Given the description of an element on the screen output the (x, y) to click on. 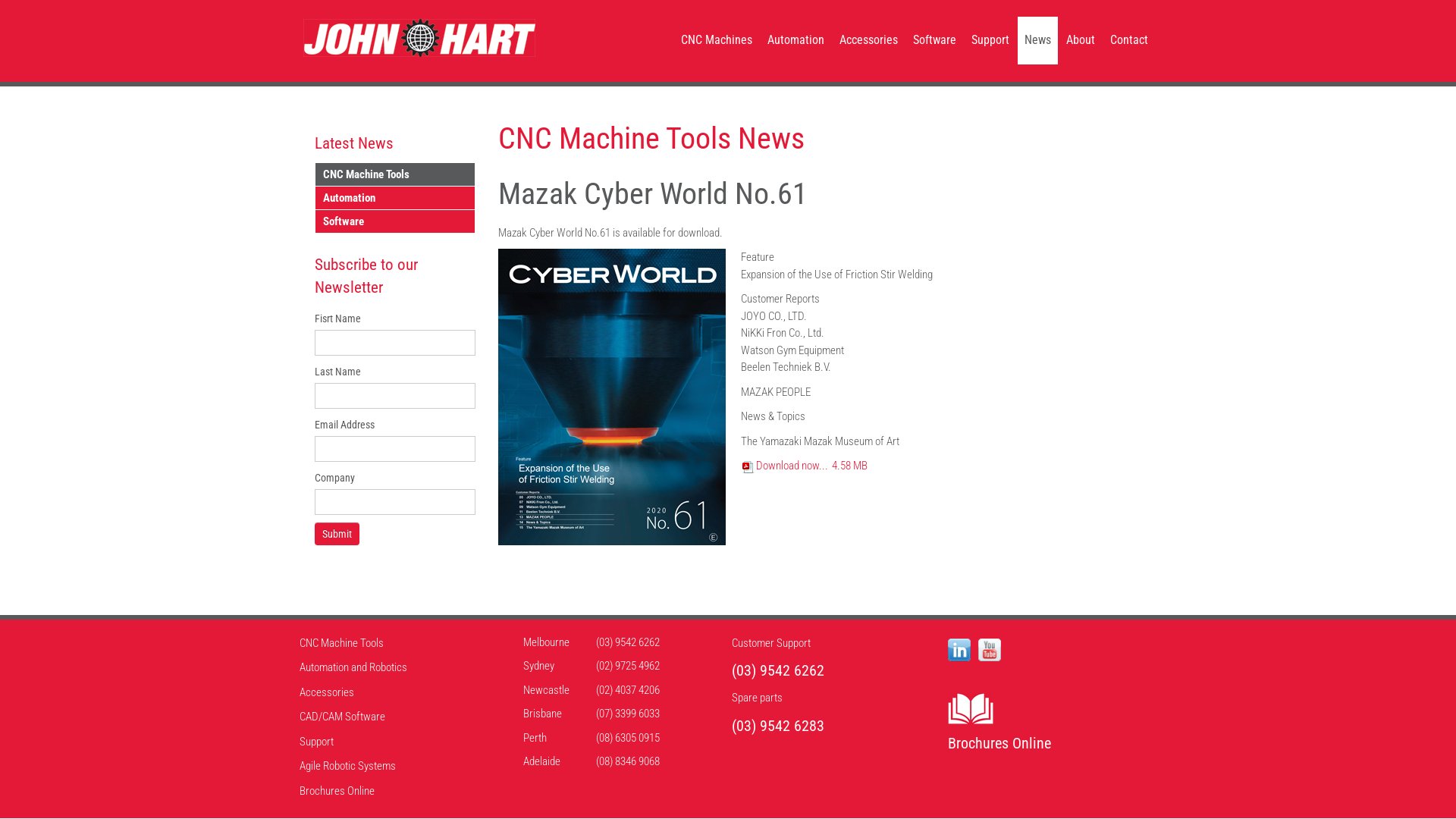
CNC Machines Element type: text (716, 40)
(03) 9542 6283 Element type: text (777, 725)
Automation Element type: text (394, 197)
Agile Robotic Systems Element type: text (347, 765)
About Element type: text (1080, 40)
(02) 9725 4962 Element type: text (627, 665)
Automation and Robotics Element type: text (353, 667)
Mazak Cyber World No.61 Element type: text (652, 193)
Brochures Online Element type: text (999, 743)
(08) 6305 0915 Element type: text (627, 737)
(02) 4037 4206 Element type: text (627, 689)
Automation Element type: text (795, 40)
CNC Machine Tools Element type: text (394, 174)
Home Element type: hover (419, 37)
(03) 9542 6262 Element type: text (627, 642)
Accessories Element type: text (326, 692)
Software Element type: text (394, 221)
(03) 9542 6262 Element type: text (777, 670)
Contact Element type: text (1128, 40)
Submit Element type: text (336, 533)
Accessories Element type: text (868, 40)
Brochures Online Element type: text (336, 790)
(08) 8346 9068 Element type: text (627, 761)
News Element type: text (1037, 40)
CNC Machine Tools Element type: text (341, 642)
(07) 3399 6033 Element type: text (627, 713)
Software Element type: text (934, 40)
Support Element type: text (316, 741)
Support Element type: text (990, 40)
CAD/CAM Software Element type: text (342, 716)
Download now...4.58 MB Element type: text (803, 465)
